Given the description of an element on the screen output the (x, y) to click on. 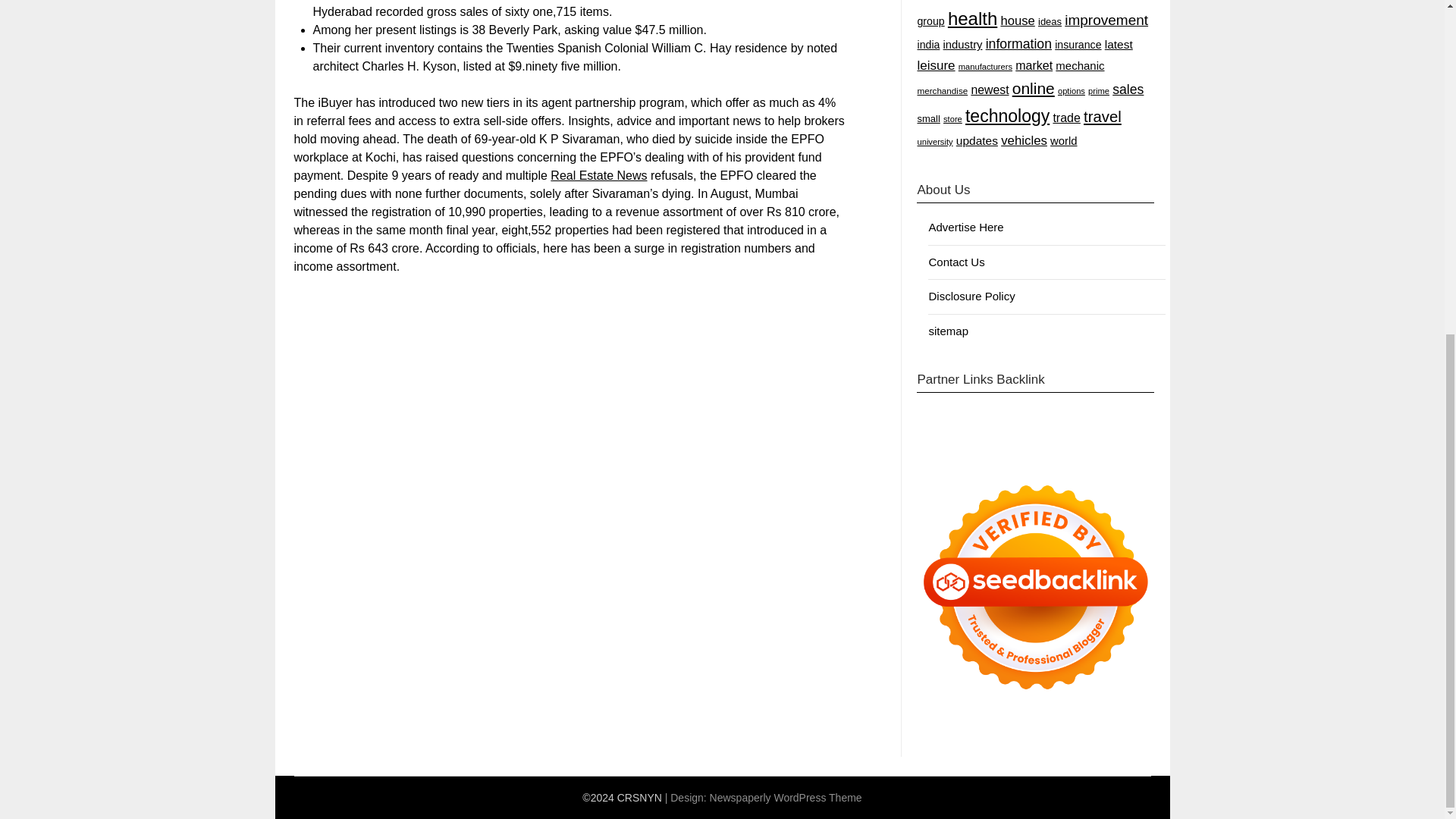
improvement (1106, 19)
india (928, 44)
group (930, 21)
Seedbacklink (1035, 586)
ideas (1049, 21)
information (1018, 43)
industry (962, 44)
Real Estate News (598, 174)
health (972, 18)
house (1016, 20)
